Given the description of an element on the screen output the (x, y) to click on. 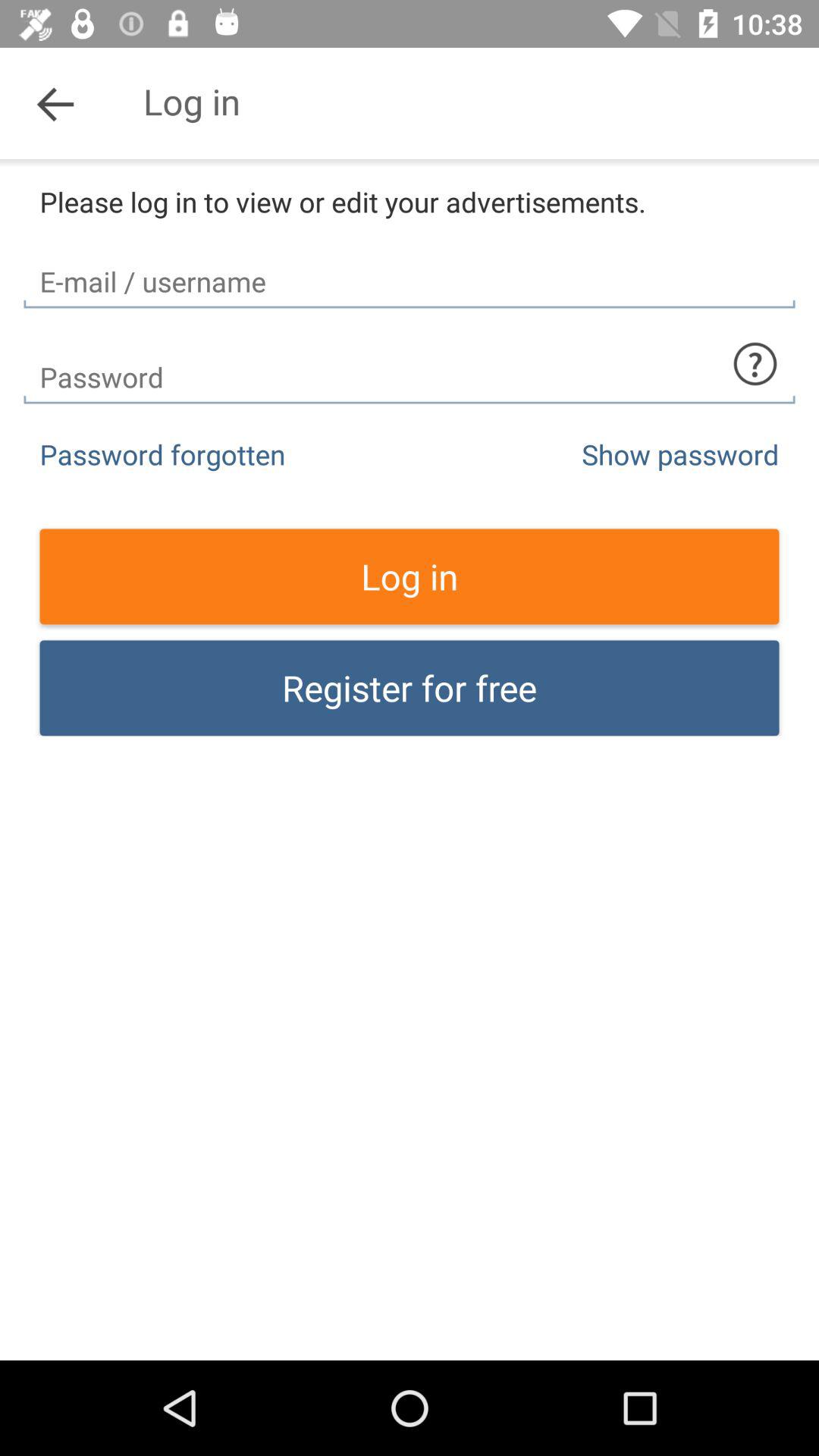
enter email or username to log in (409, 268)
